Given the description of an element on the screen output the (x, y) to click on. 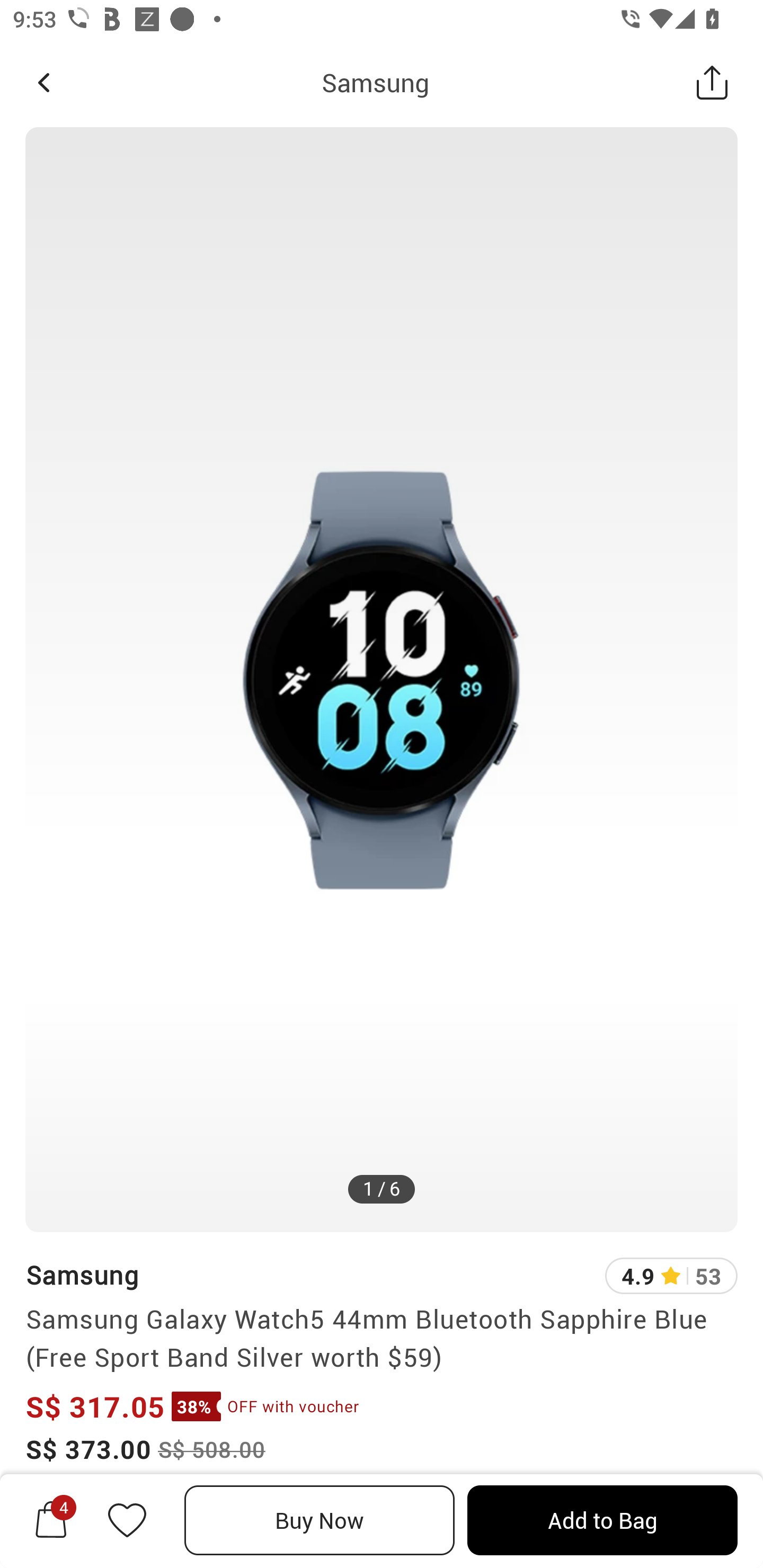
Samsung (375, 82)
Share this Product (711, 82)
Samsung (81, 1274)
4.9 53 (671, 1275)
Buy Now (319, 1519)
Add to Bag (601, 1519)
4 (50, 1520)
